Given the description of an element on the screen output the (x, y) to click on. 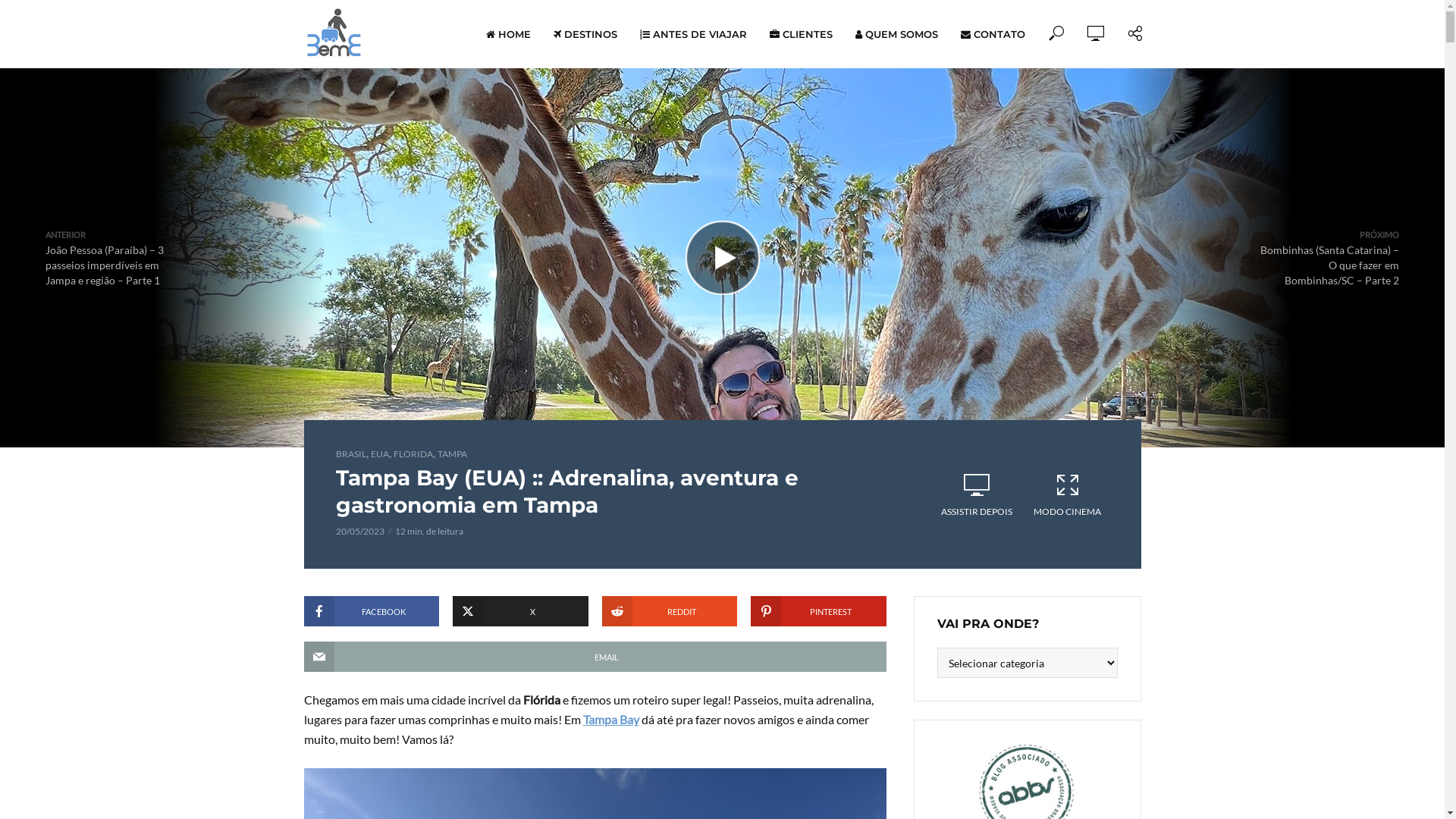
EMAIL Element type: text (594, 656)
PINTEREST Element type: text (818, 611)
HOME Element type: text (508, 33)
FACEBOOK Element type: text (371, 611)
DESTINOS Element type: text (584, 33)
QUEM SOMOS Element type: text (895, 33)
CONTATO Element type: text (992, 33)
CLIENTES Element type: text (801, 33)
MODO CINEMA Element type: text (1067, 494)
TAMPA Element type: text (451, 453)
ASSISTIR DEPOIS Element type: text (976, 494)
REDDIT Element type: text (669, 611)
ANTES DE VIAJAR Element type: text (692, 33)
X Element type: text (520, 611)
Tampa Bay Element type: text (610, 719)
BRASIL Element type: text (350, 453)
EUA Element type: text (379, 453)
FLORIDA Element type: text (412, 453)
